Given the description of an element on the screen output the (x, y) to click on. 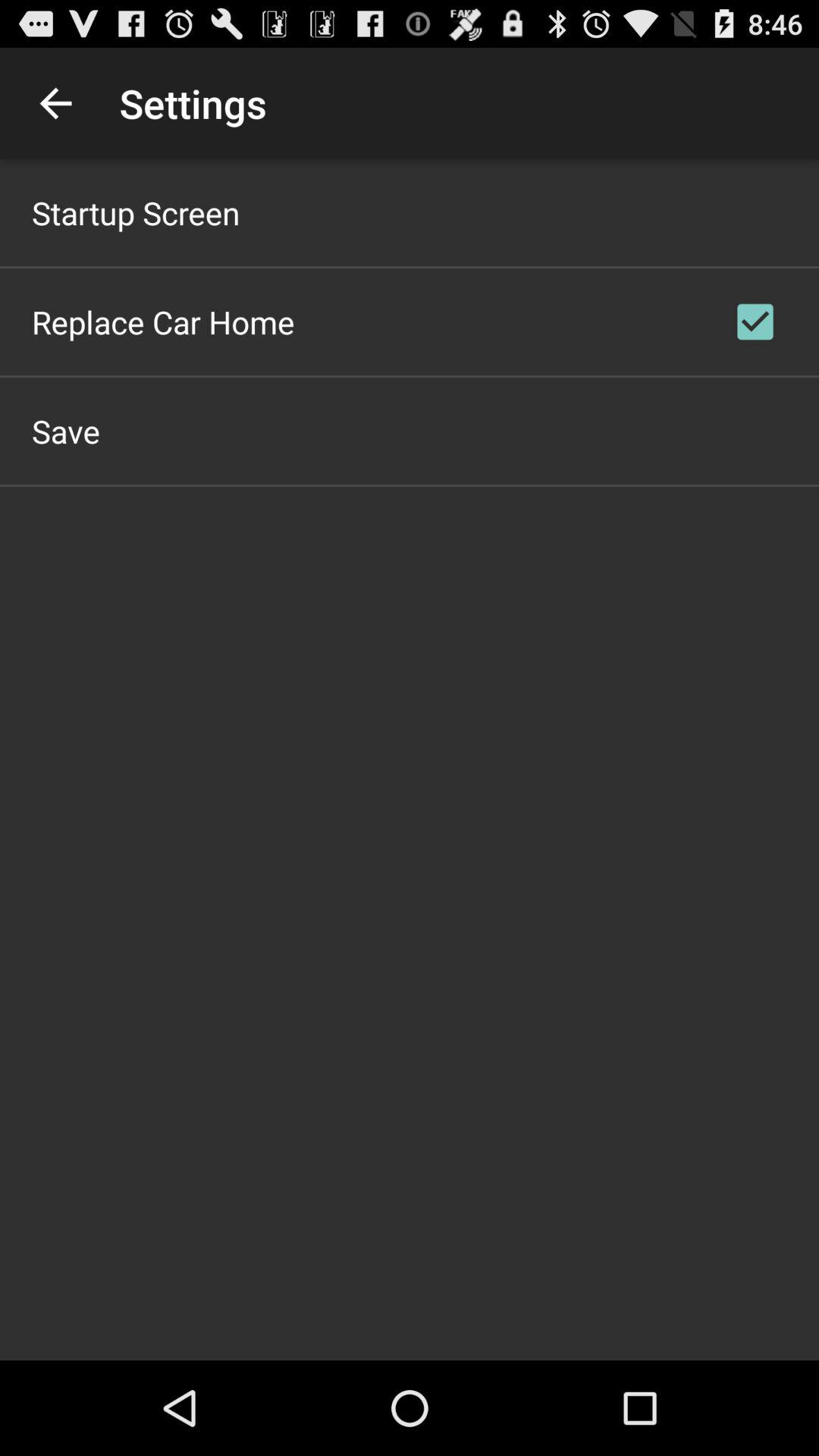
tap the save (65, 430)
